Given the description of an element on the screen output the (x, y) to click on. 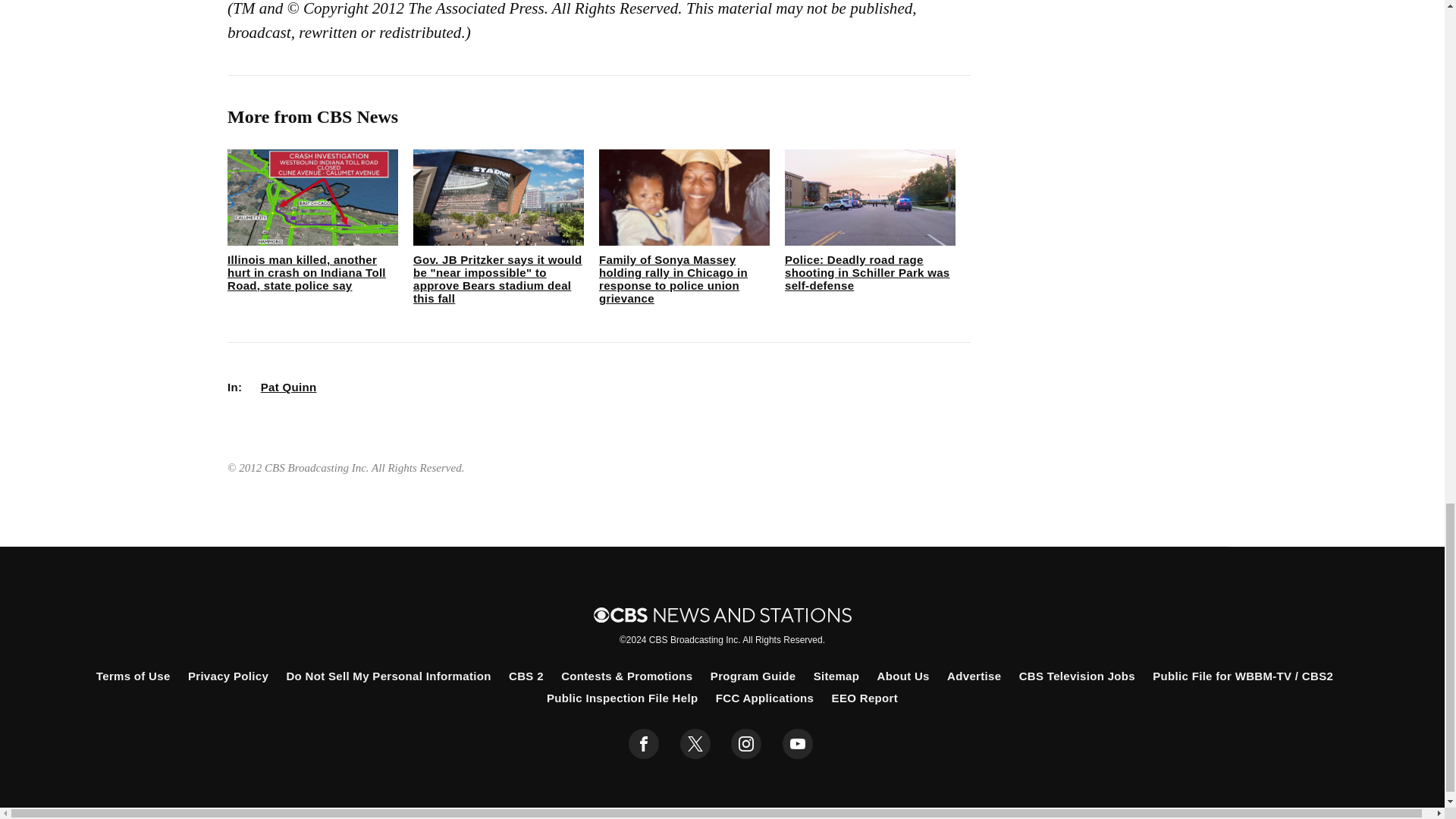
instagram (745, 743)
twitter (694, 743)
youtube (797, 743)
facebook (643, 743)
